Given the description of an element on the screen output the (x, y) to click on. 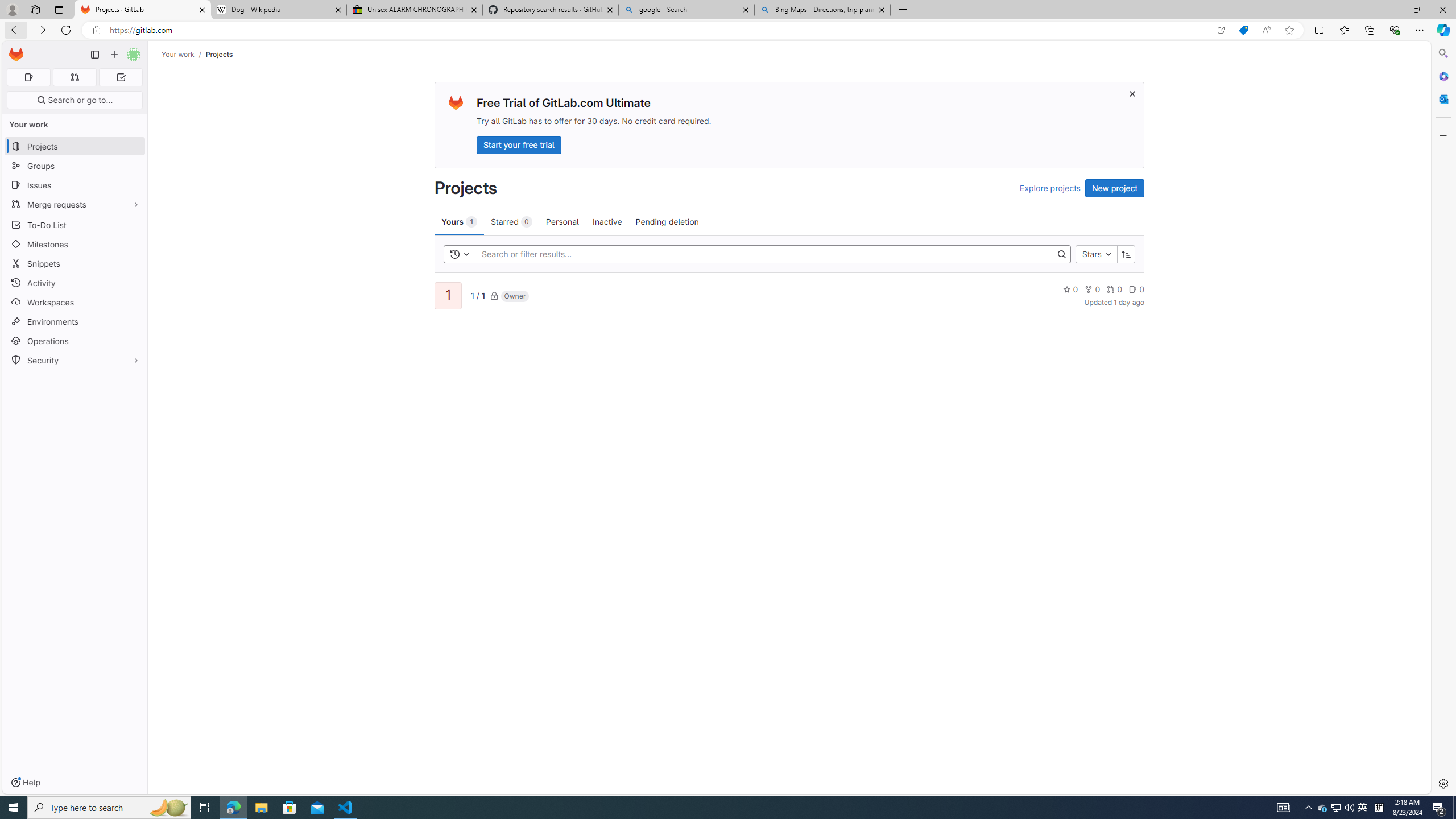
Starred 0 (510, 221)
Toggle history (460, 253)
Security (74, 359)
Activity (74, 282)
Stars (1096, 253)
Issues (74, 185)
Milestones (74, 244)
